Given the description of an element on the screen output the (x, y) to click on. 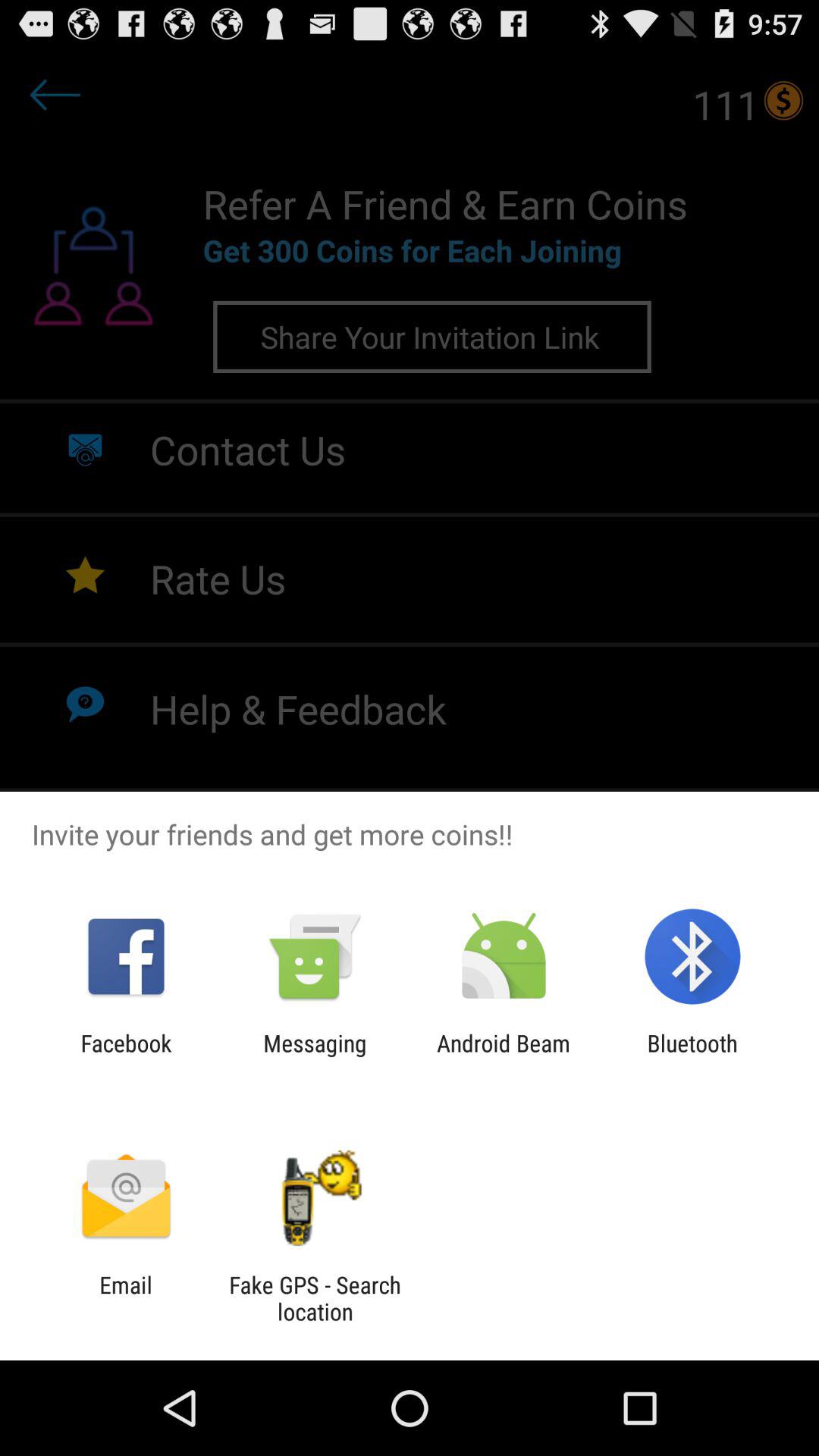
choose the app to the right of android beam icon (692, 1056)
